Given the description of an element on the screen output the (x, y) to click on. 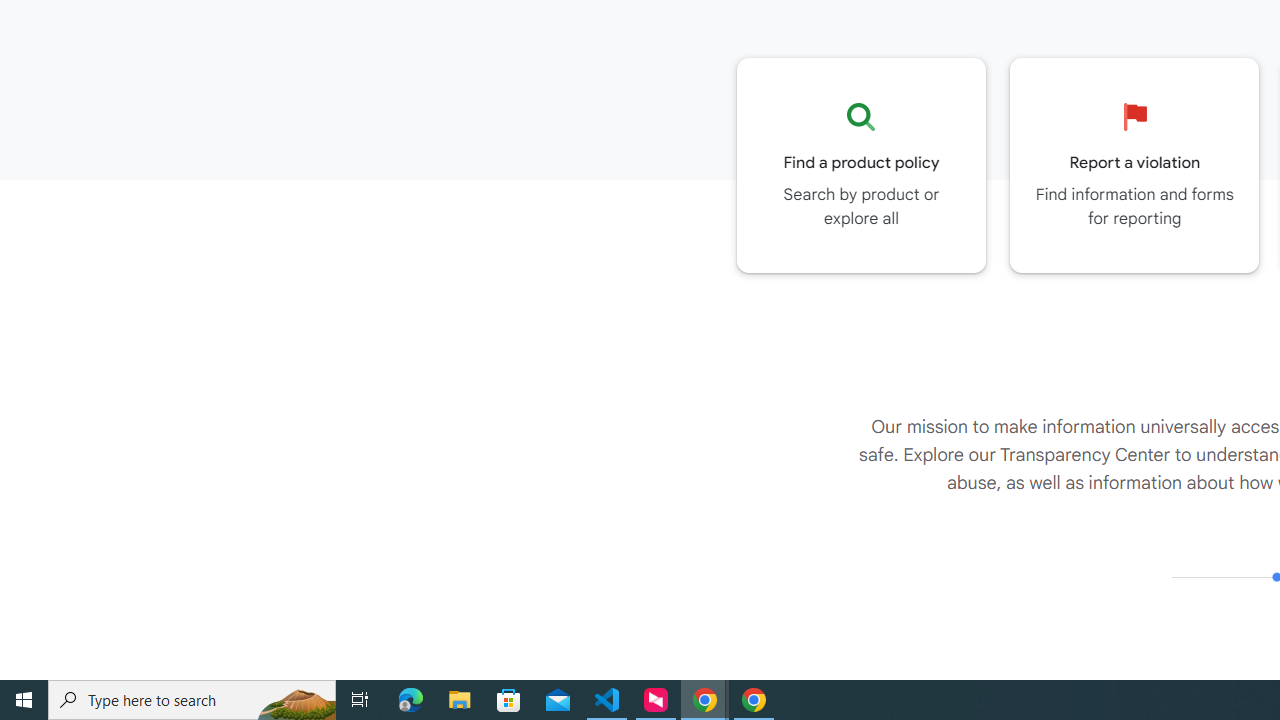
Go to the Product policy page (861, 165)
Go to the Reporting and appeals page (1134, 165)
